Given the description of an element on the screen output the (x, y) to click on. 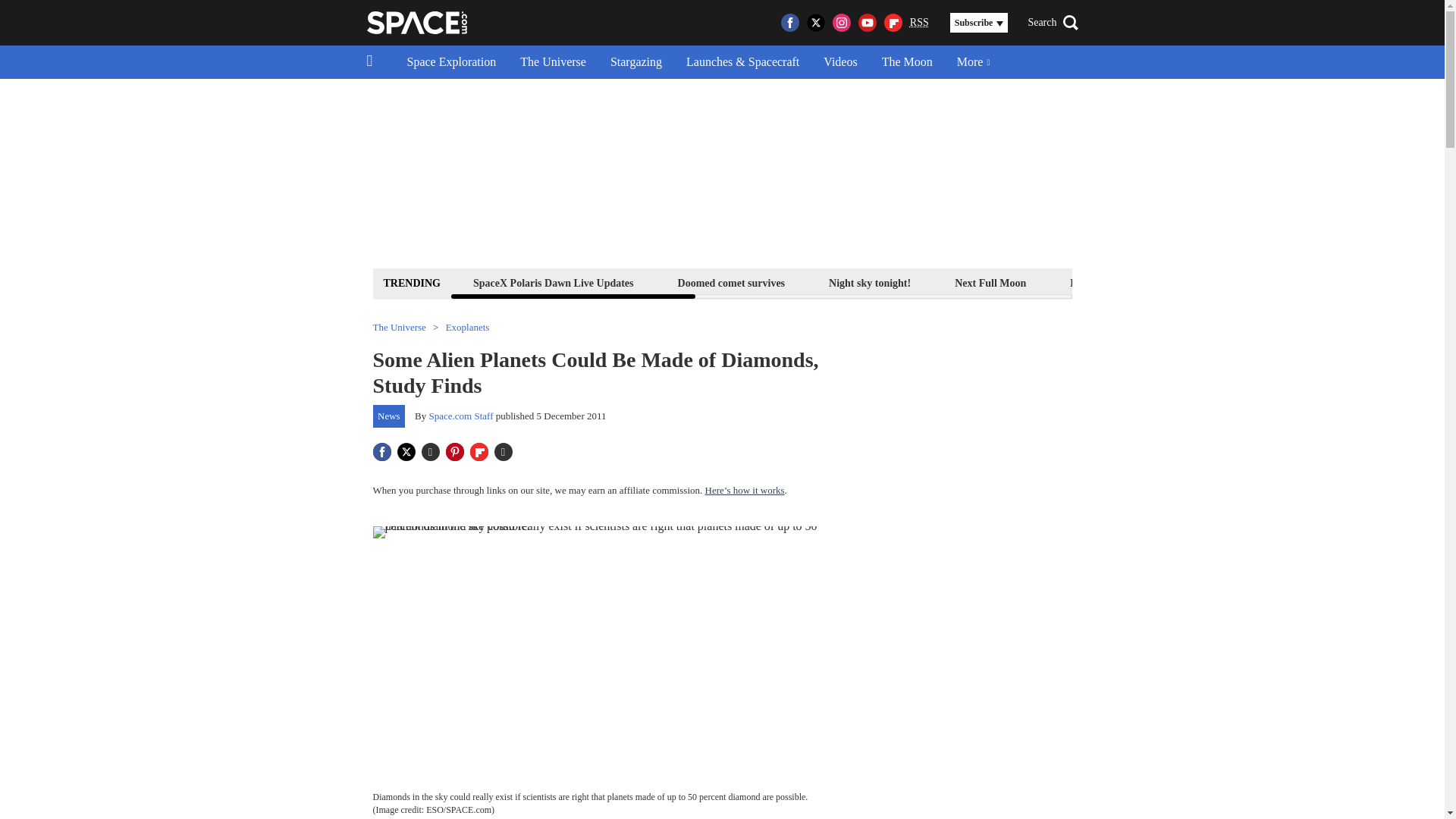
Stargazing (636, 61)
The Universe (553, 61)
Best Star Projectors (1343, 282)
Next Full Moon (989, 282)
Best Binoculars (1218, 282)
Best Telescopes (1104, 282)
Really Simple Syndication (919, 21)
Videos (839, 61)
Doomed comet survives (731, 282)
The Moon (906, 61)
